Given the description of an element on the screen output the (x, y) to click on. 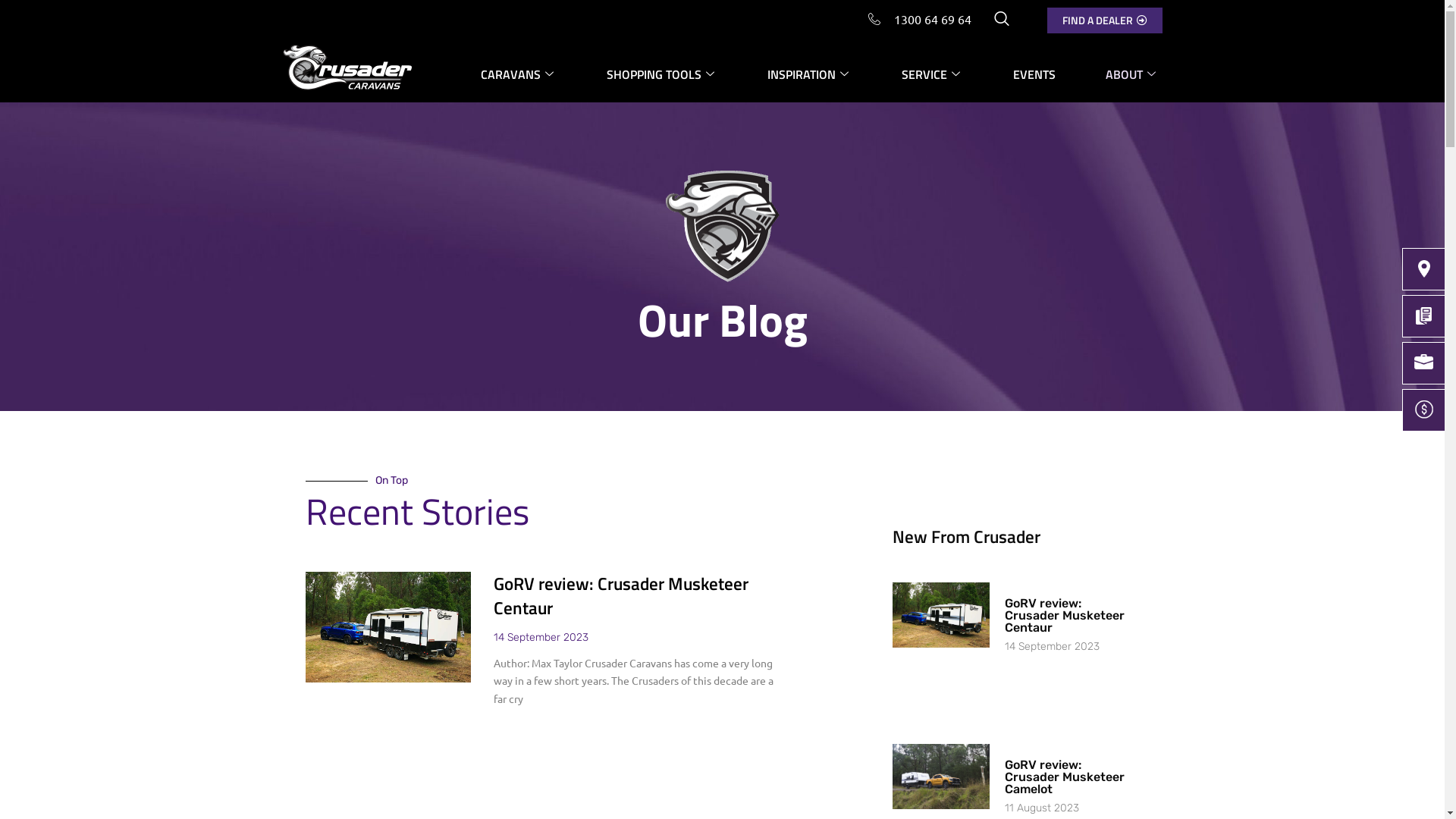
1300 64 69 64 Element type: text (918, 19)
CARAVANS Element type: text (518, 74)
GoRV review: Crusader Musketeer Camelot Element type: text (1064, 776)
SHOPPING TOOLS Element type: text (662, 74)
FIND A DEALER Element type: text (1103, 20)
GoRV review: Crusader Musketeer Centaur Element type: text (1064, 615)
SERVICE Element type: text (932, 74)
EVENTS Element type: text (1034, 74)
INSPIRATION Element type: text (809, 74)
GoRV review: Crusader Musketeer Centaur Element type: text (620, 595)
ABOUT Element type: text (1122, 74)
